Given the description of an element on the screen output the (x, y) to click on. 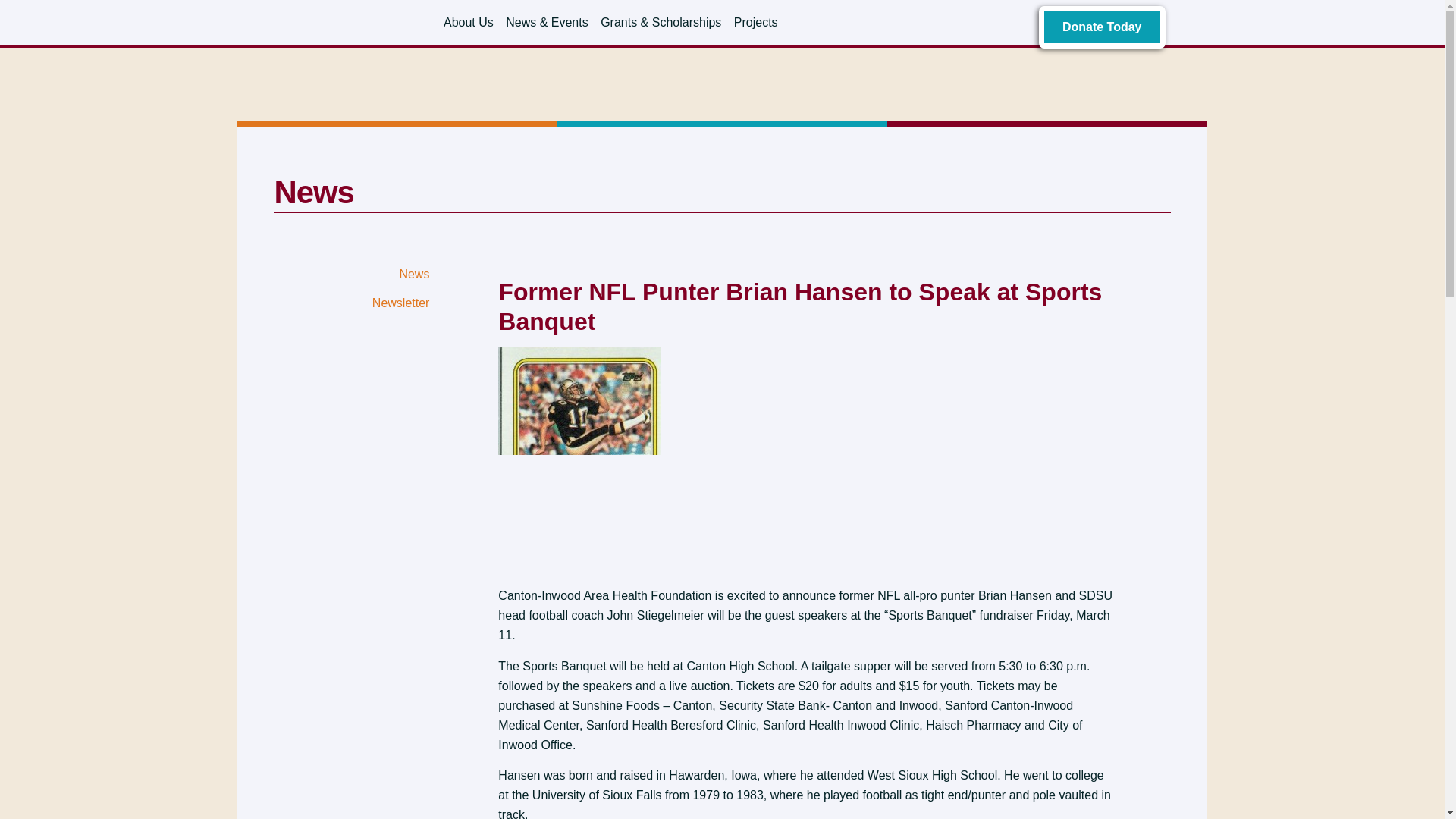
Newsletter (353, 302)
Donate Today (1102, 26)
About Us (468, 21)
Projects (755, 21)
News (353, 274)
